Given the description of an element on the screen output the (x, y) to click on. 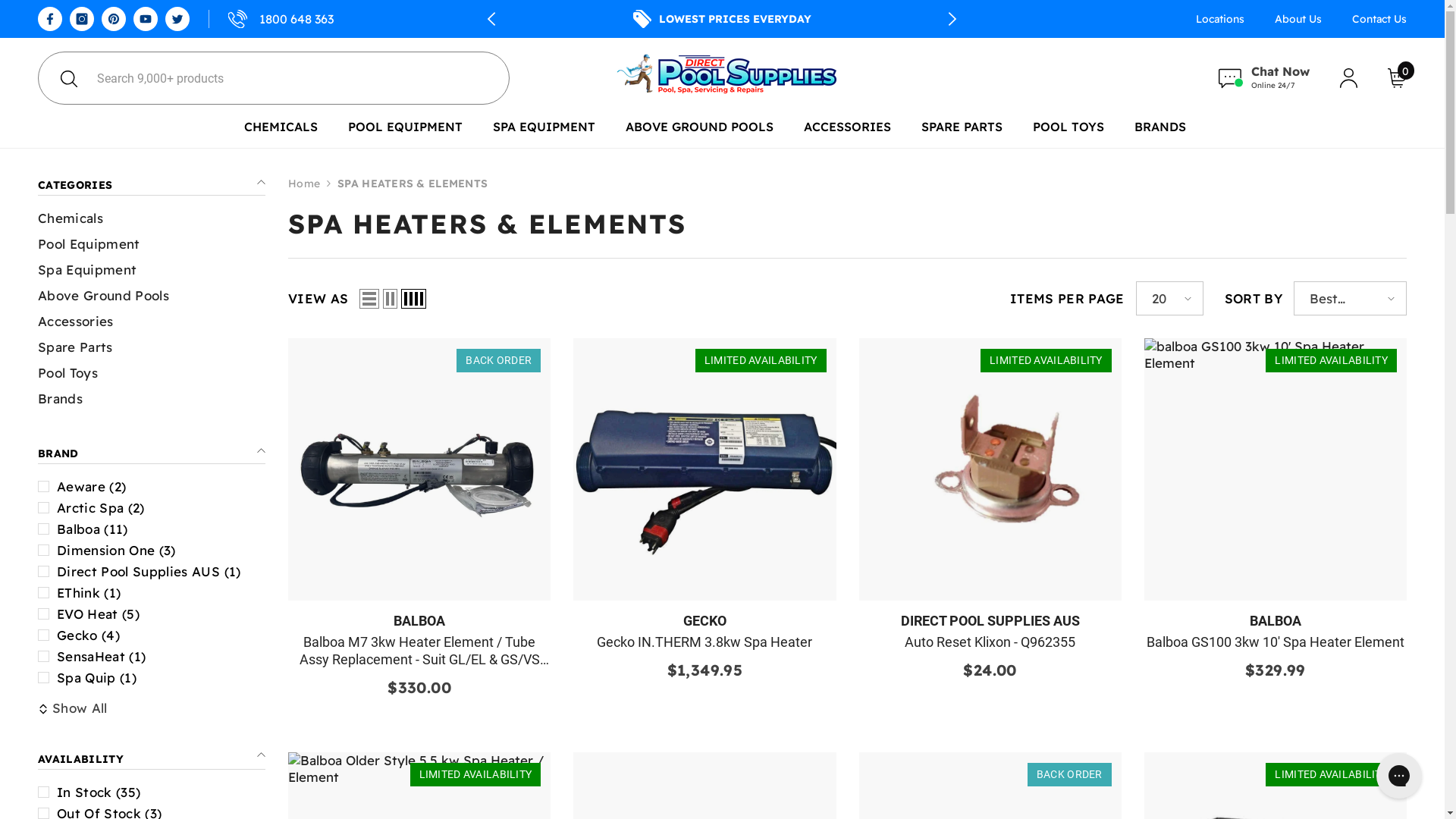
POOL EQUIPMENT Element type: text (404, 132)
Brands Element type: text (59, 398)
0
0 items Element type: text (1396, 77)
POOL TOYS Element type: text (1068, 132)
CHEMICALS Element type: text (280, 132)
Contact Us Element type: text (1371, 18)
Accessories Element type: text (75, 321)
Online 24/7 Element type: text (1264, 78)
Chemicals Element type: text (70, 218)
Facebook Element type: text (49, 18)
ACCESSORIES Element type: text (847, 132)
Above Ground Pools Element type: text (103, 295)
Home Element type: text (304, 183)
Balboa GS100 3kw 10' Spa Heater Element Element type: text (1275, 641)
ABOVE GROUND POOLS Element type: text (698, 132)
Pinterest Element type: text (113, 18)
YouTube Element type: text (145, 18)
Locations Element type: text (1219, 18)
SPARE PARTS Element type: text (960, 132)
Spare Parts Element type: text (74, 347)
BALBOA Element type: text (1275, 620)
Pool Toys Element type: text (67, 372)
Spa Equipment Element type: text (86, 269)
BALBOA Element type: text (419, 620)
Gecko IN.THERM 3.8kw Spa Heater Element type: text (704, 641)
GECKO Element type: text (704, 620)
Instagram Element type: text (81, 18)
BRANDS Element type: text (1160, 132)
About Us Element type: text (1297, 18)
Auto Reset Klixon - Q962355 Element type: text (989, 641)
SPA HEATERS & ELEMENTS Element type: text (412, 183)
SPA EQUIPMENT Element type: text (543, 132)
Twitter Element type: text (177, 18)
Gorgias live chat messenger Element type: hover (1398, 775)
DIRECT POOL SUPPLIES AUS Element type: text (989, 620)
Pool Equipment Element type: text (88, 244)
Submit Element type: hover (67, 77)
1800 648 363 Element type: text (270, 18)
